Given the description of an element on the screen output the (x, y) to click on. 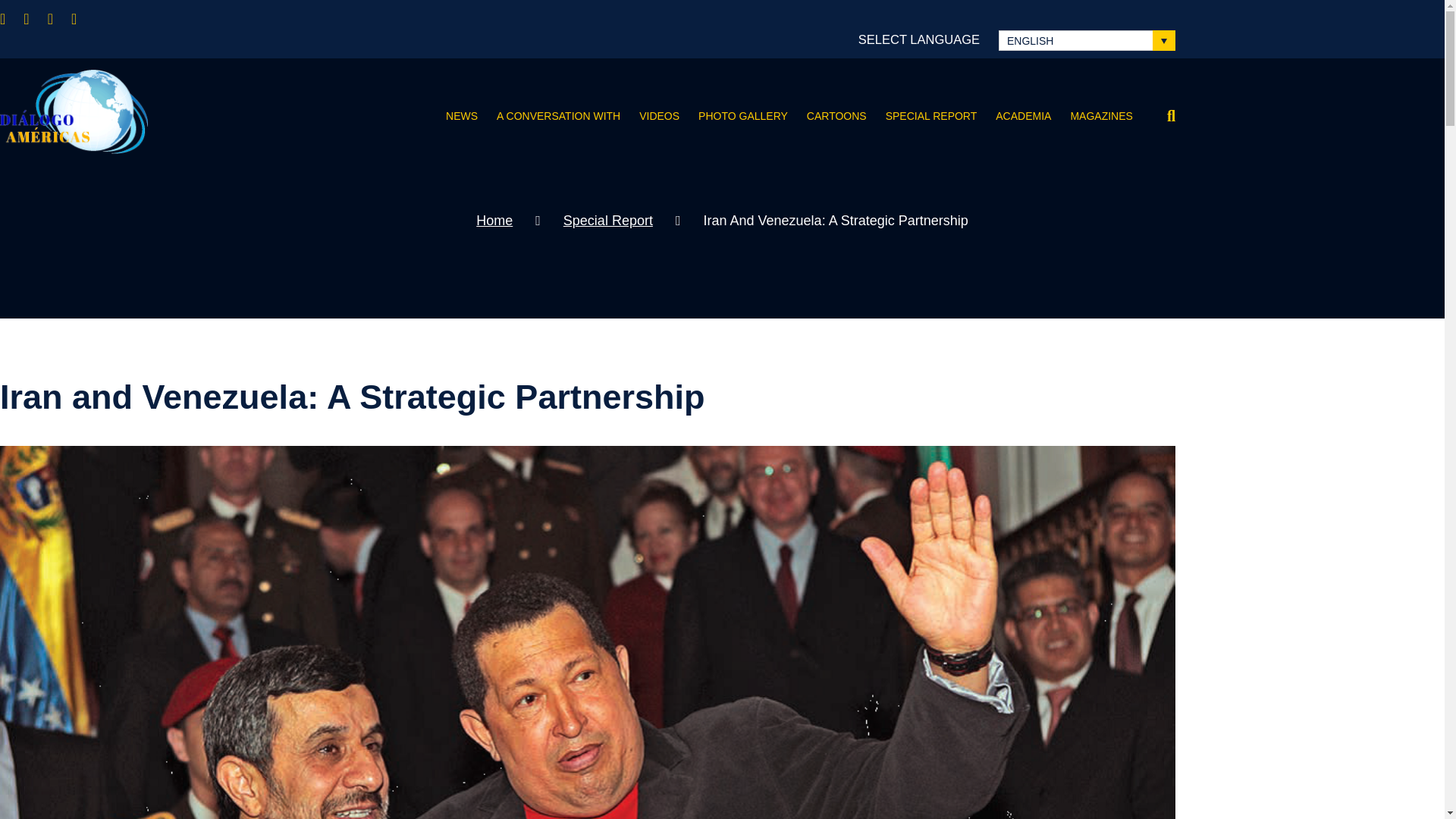
NEWS (451, 116)
A CONVERSATION WITH (548, 116)
MAGAZINES (1091, 116)
Twitter (34, 18)
ENGLISH (1086, 40)
Facebook (11, 18)
PHOTO GALLERY (733, 116)
Go to the Special Report Category archives. (607, 220)
YouTube (59, 18)
ACADEMIA (1013, 116)
Home (494, 220)
CARTOONS (826, 116)
Special Report (607, 220)
Instagram (82, 18)
